Given the description of an element on the screen output the (x, y) to click on. 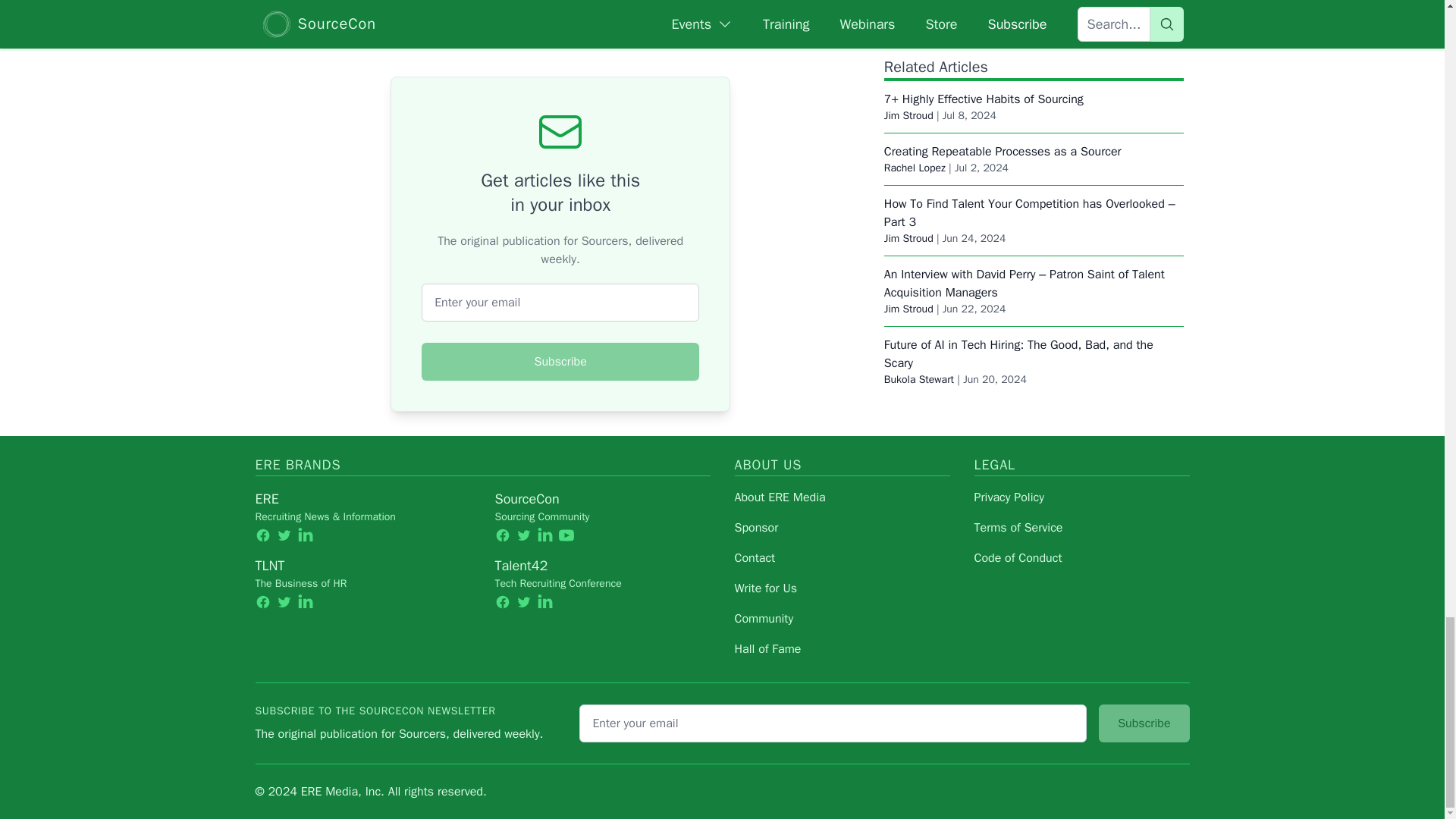
Subscribe (560, 361)
